Given the description of an element on the screen output the (x, y) to click on. 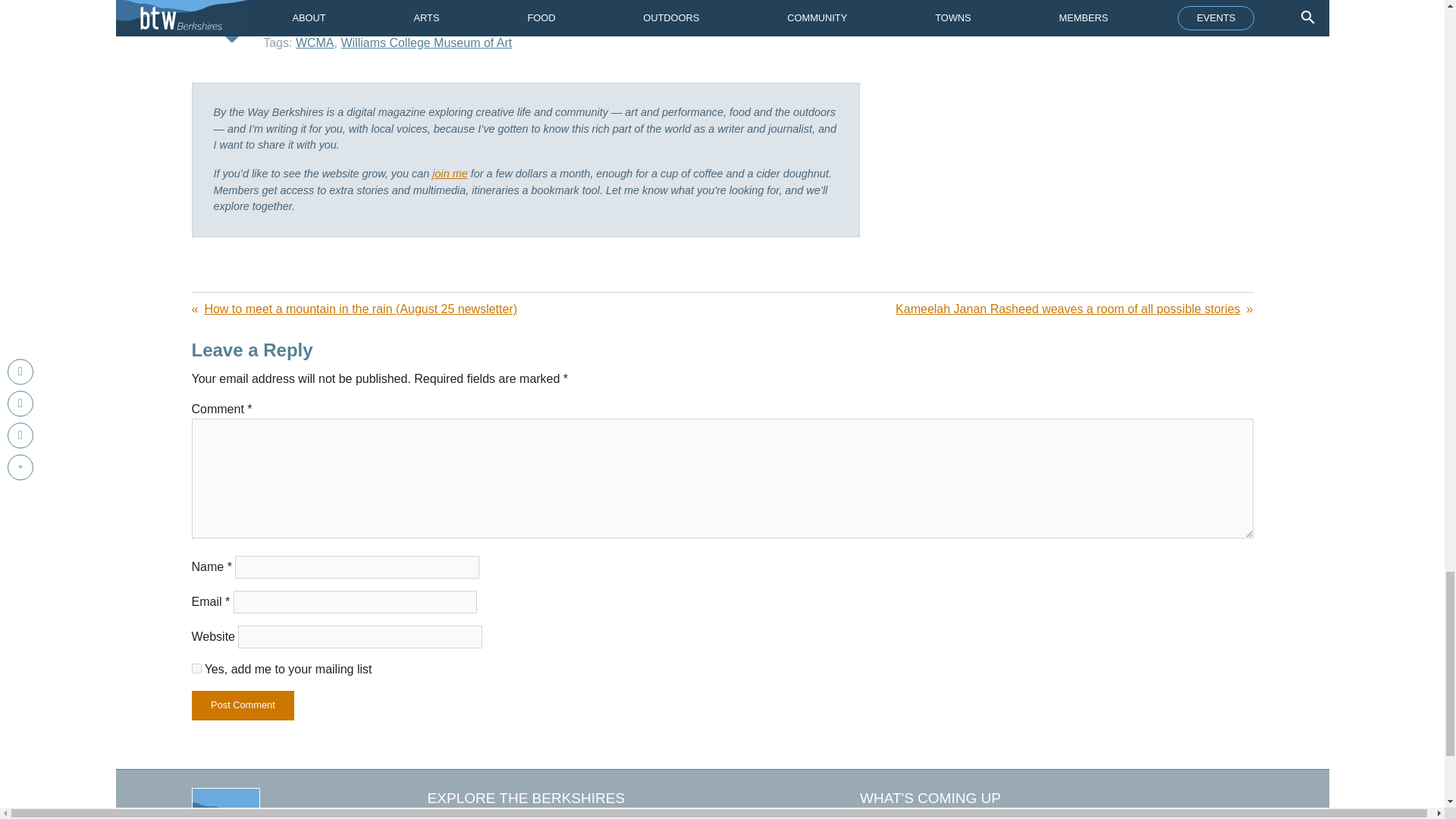
Post Comment (242, 705)
1 (195, 668)
